Given the description of an element on the screen output the (x, y) to click on. 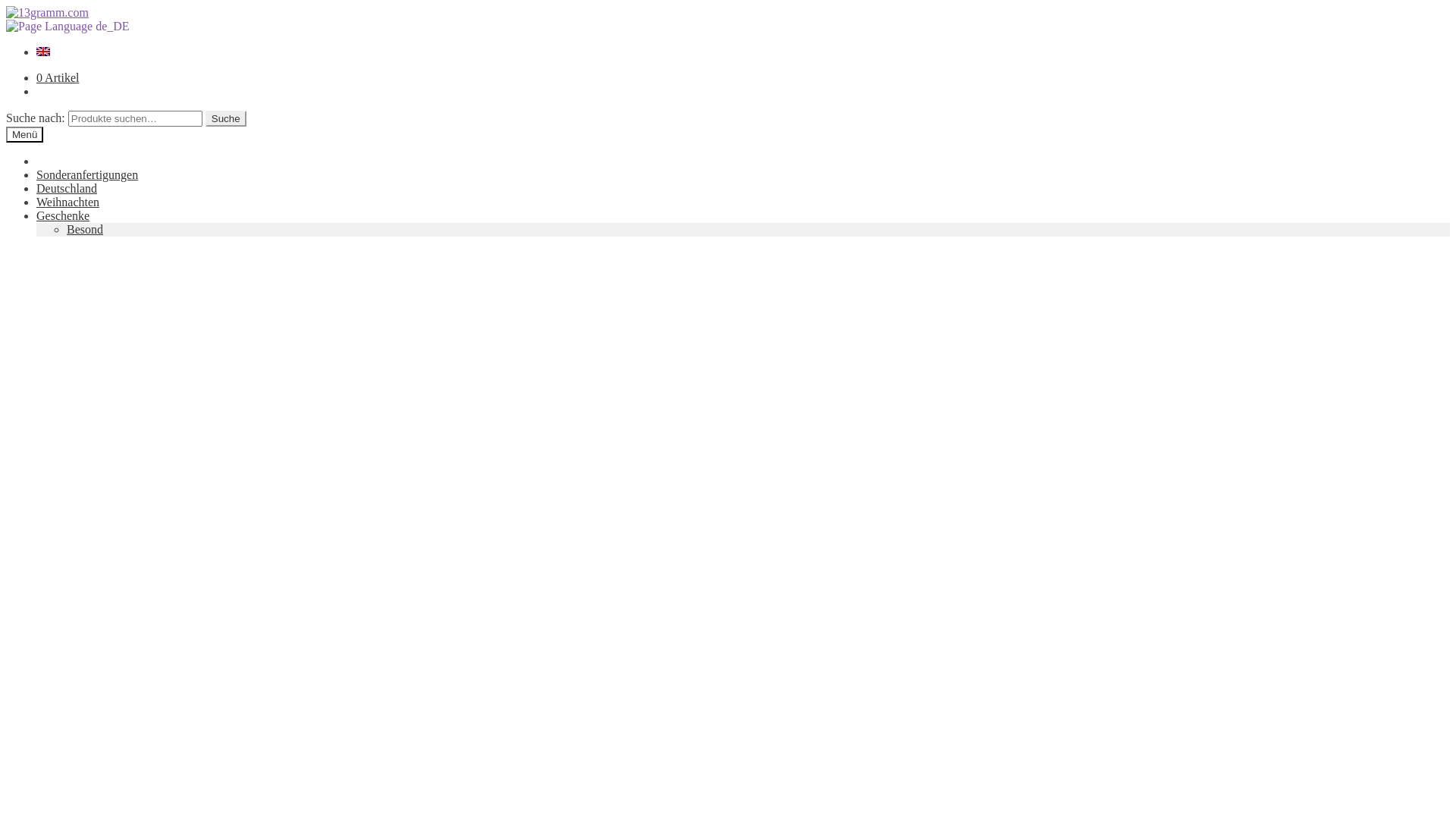
Geschenke Element type: text (62, 215)
Suche Element type: text (225, 118)
Deutschland Element type: text (66, 188)
Sonderanfertigungen Element type: text (87, 174)
0 Artikel Element type: text (57, 77)
Weihnachten Element type: text (67, 201)
Besond Element type: text (84, 228)
